Given the description of an element on the screen output the (x, y) to click on. 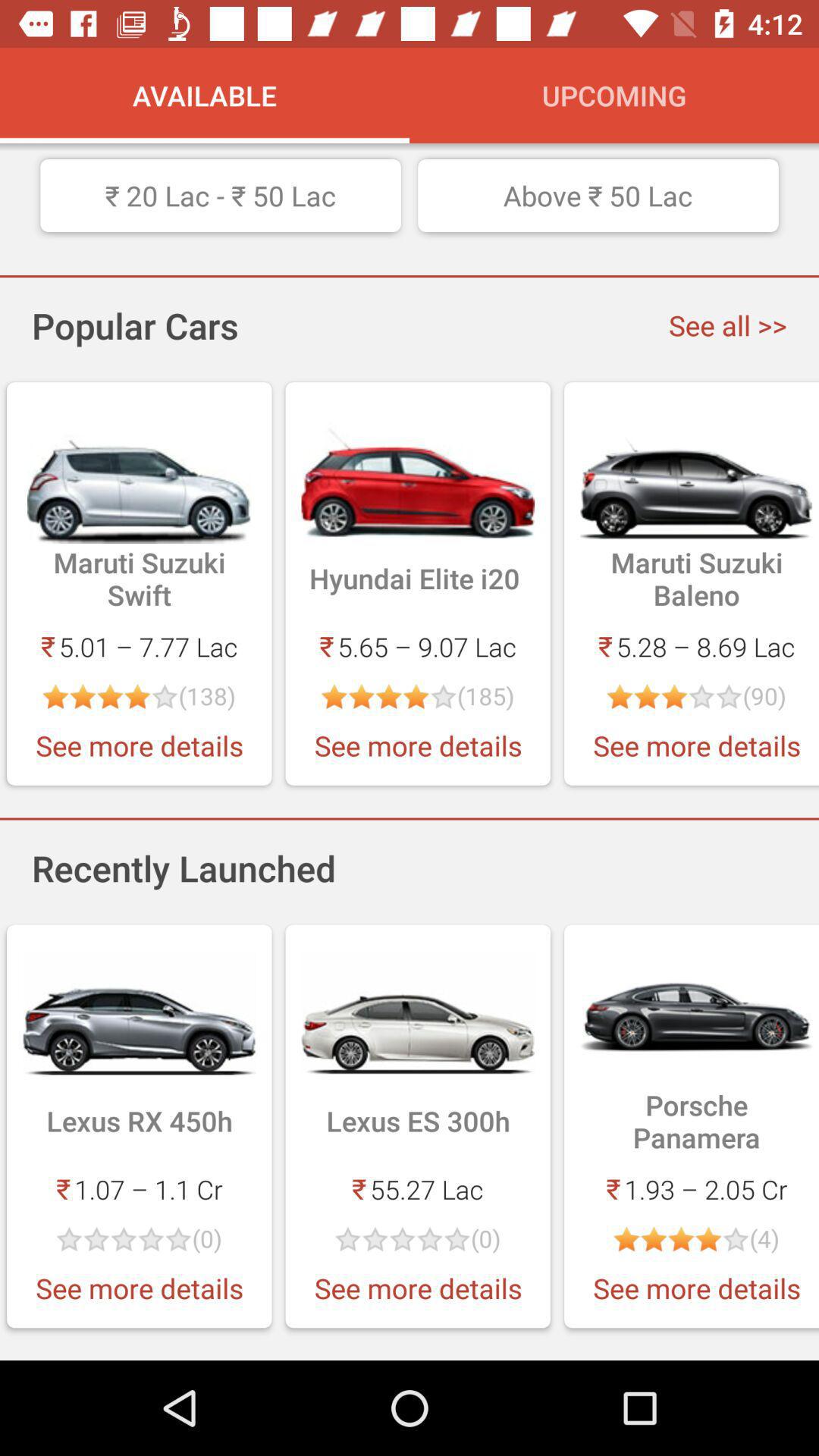
select the icon next to popular cars (728, 325)
